Given the description of an element on the screen output the (x, y) to click on. 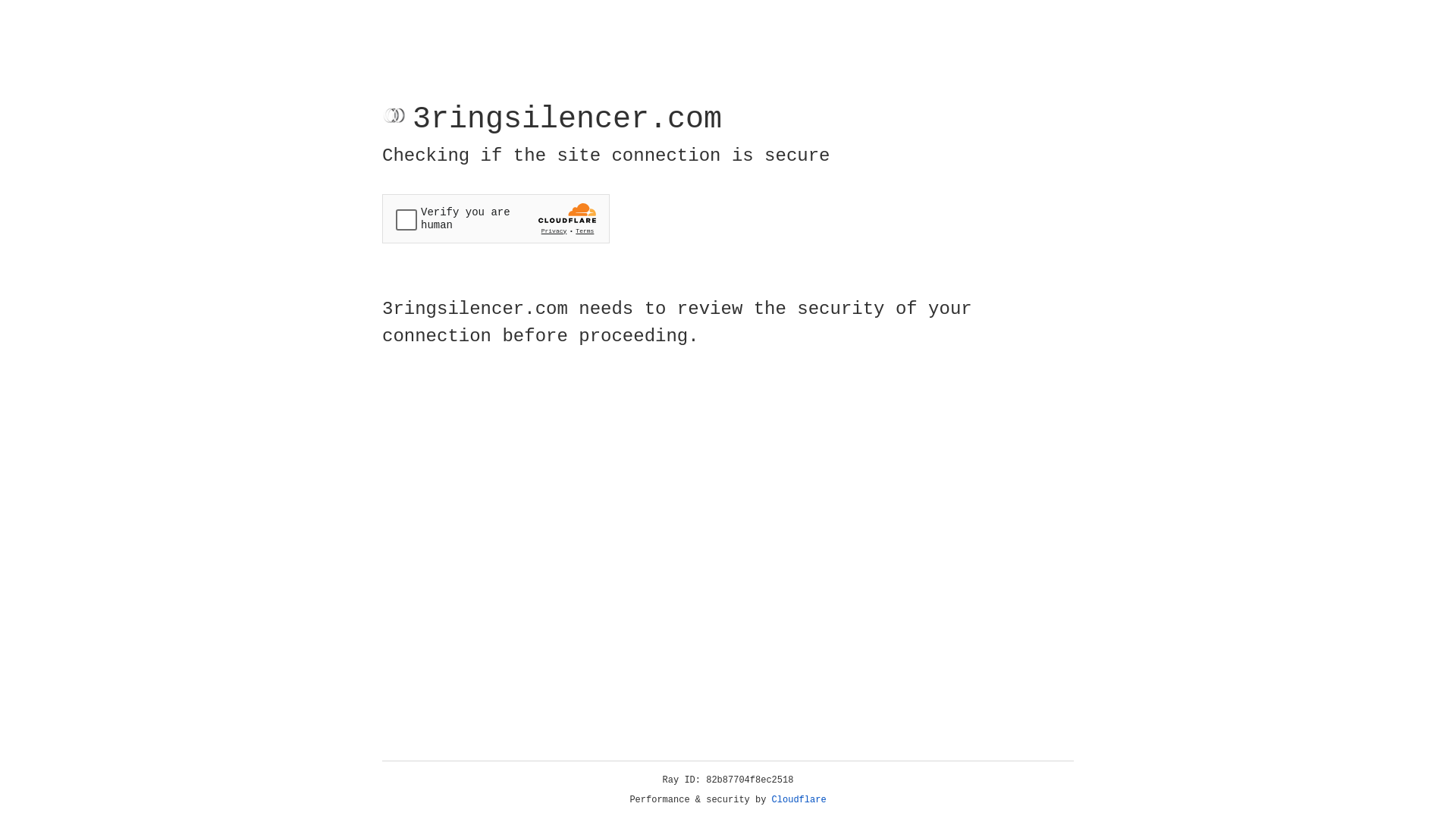
Widget containing a Cloudflare security challenge Element type: hover (495, 218)
Cloudflare Element type: text (798, 799)
